Given the description of an element on the screen output the (x, y) to click on. 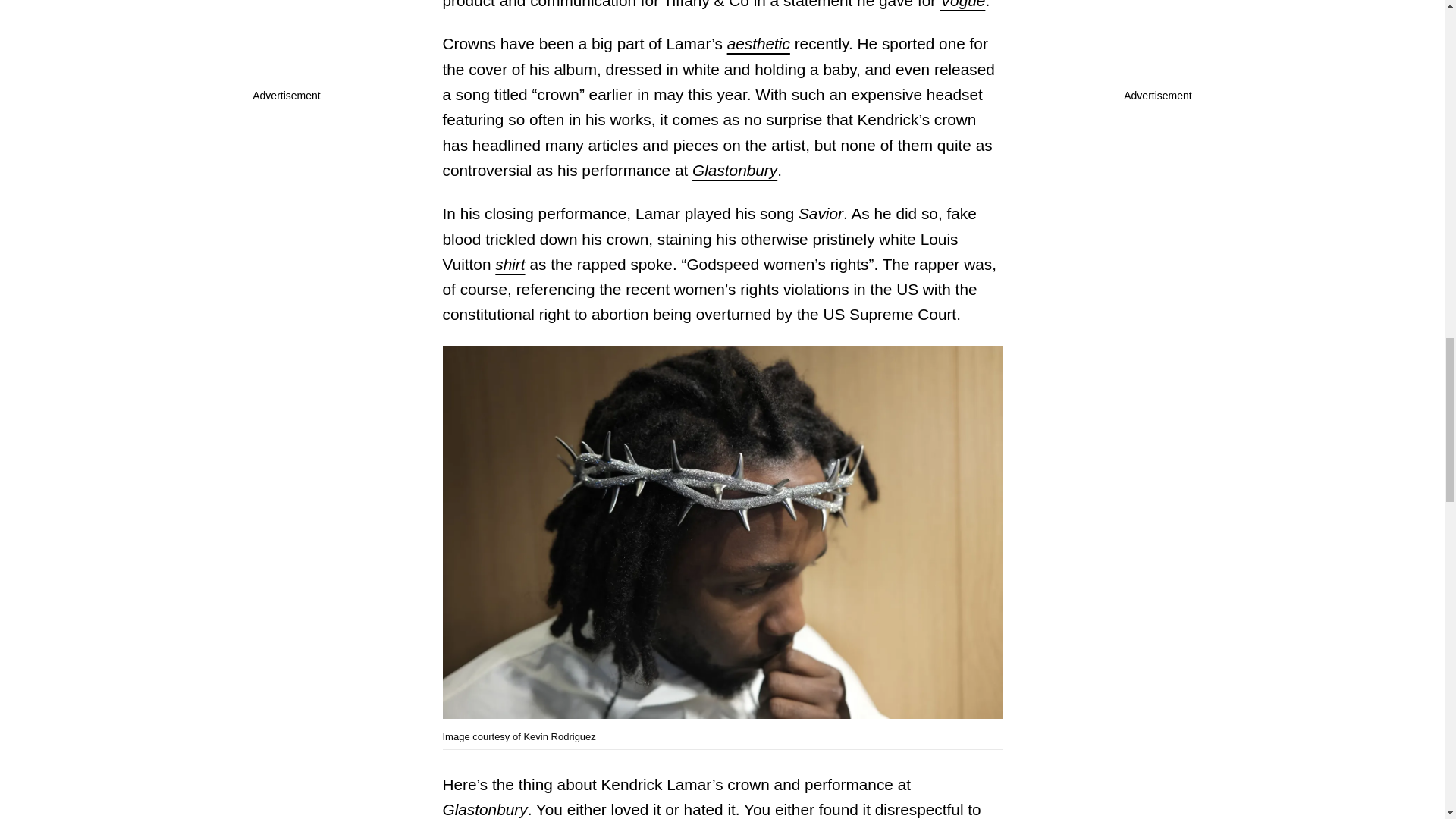
shirt (509, 263)
Glastonbury (735, 170)
aesthetic (758, 43)
Glastonbury (484, 809)
Vogue (962, 4)
